Given the description of an element on the screen output the (x, y) to click on. 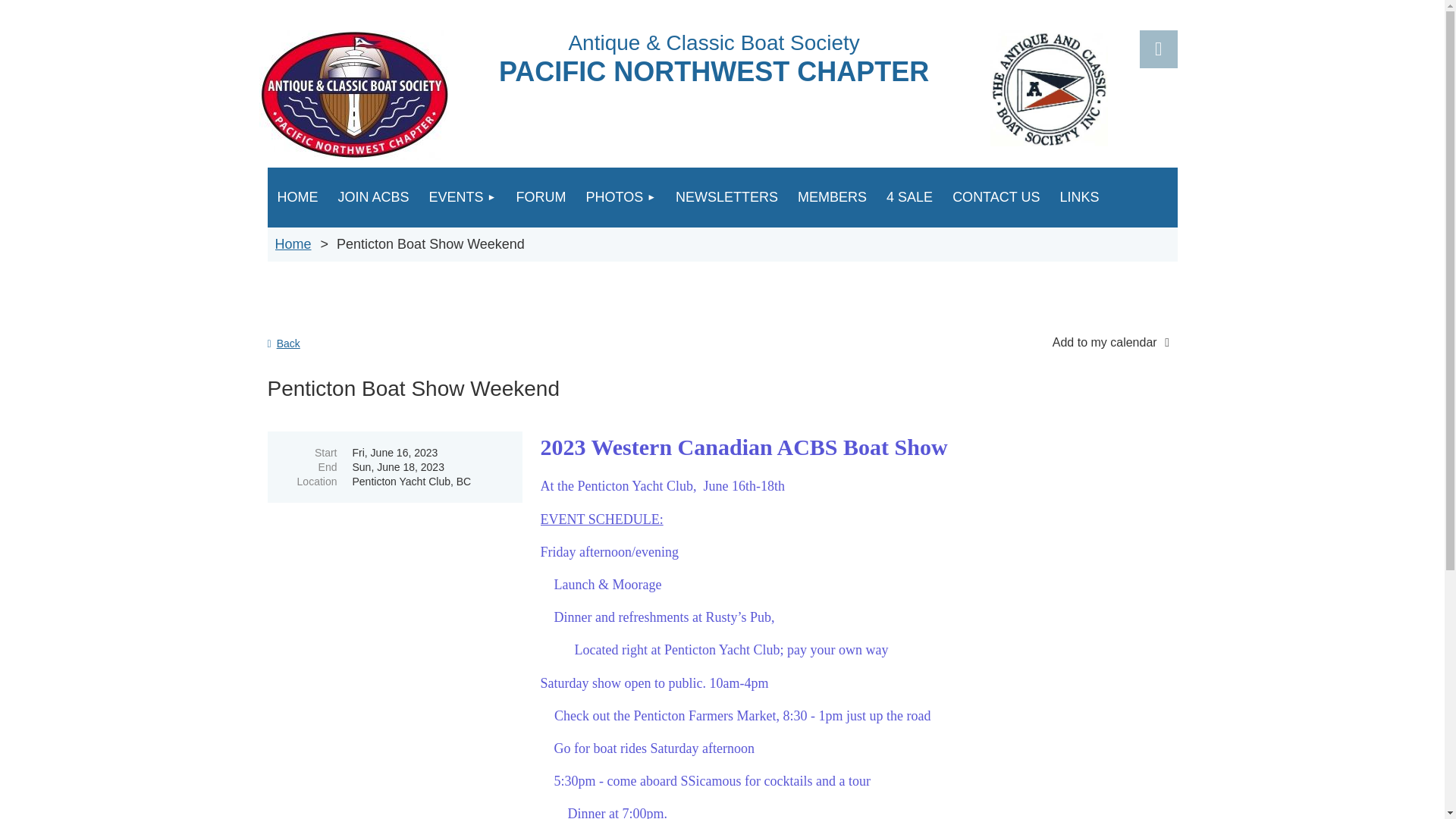
JOIN ACBS (373, 197)
HOME (296, 197)
EVENTS (462, 197)
Log in (1157, 48)
FORUM (540, 197)
PHOTOS (620, 197)
